Given the description of an element on the screen output the (x, y) to click on. 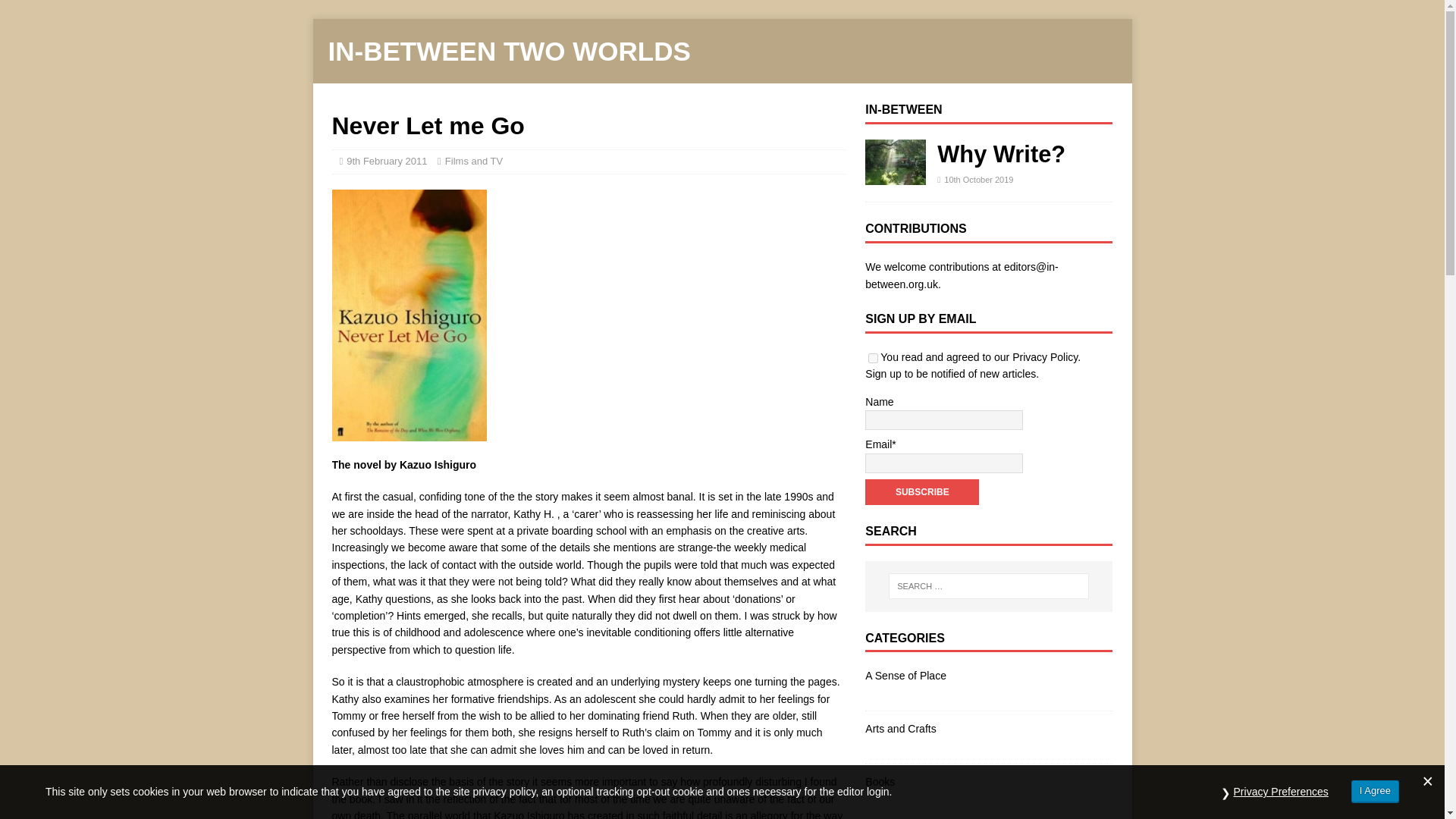
9th February 2011 (386, 161)
Subscribe (921, 492)
Why Write? (1001, 153)
Privacy Policy (1044, 357)
Books (988, 781)
Subscribe (921, 492)
A Sense of Place (988, 677)
Why Write? (895, 175)
Why Write? (1001, 153)
IN-BETWEEN TWO WORLDS (721, 50)
